Given the description of an element on the screen output the (x, y) to click on. 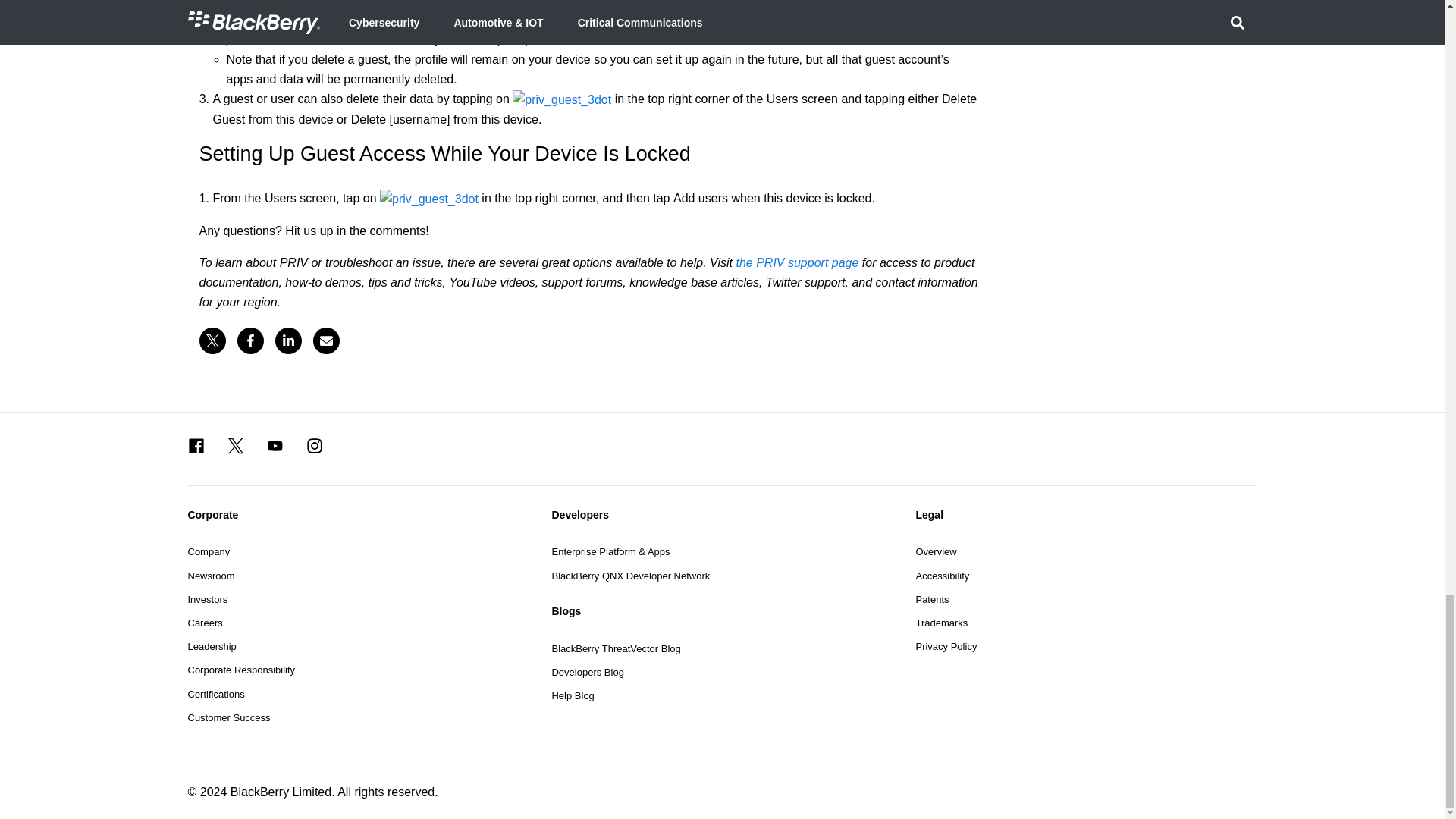
Customer Success (228, 717)
Share on X (211, 340)
Share on Facebook (249, 340)
Share on LinkedIn (288, 340)
Corporate Responsibility (241, 669)
Corporate (358, 514)
Share on X (211, 340)
Newsroom (210, 575)
Share on Facebook (249, 340)
Share on LinkedIn (288, 340)
